Given the description of an element on the screen output the (x, y) to click on. 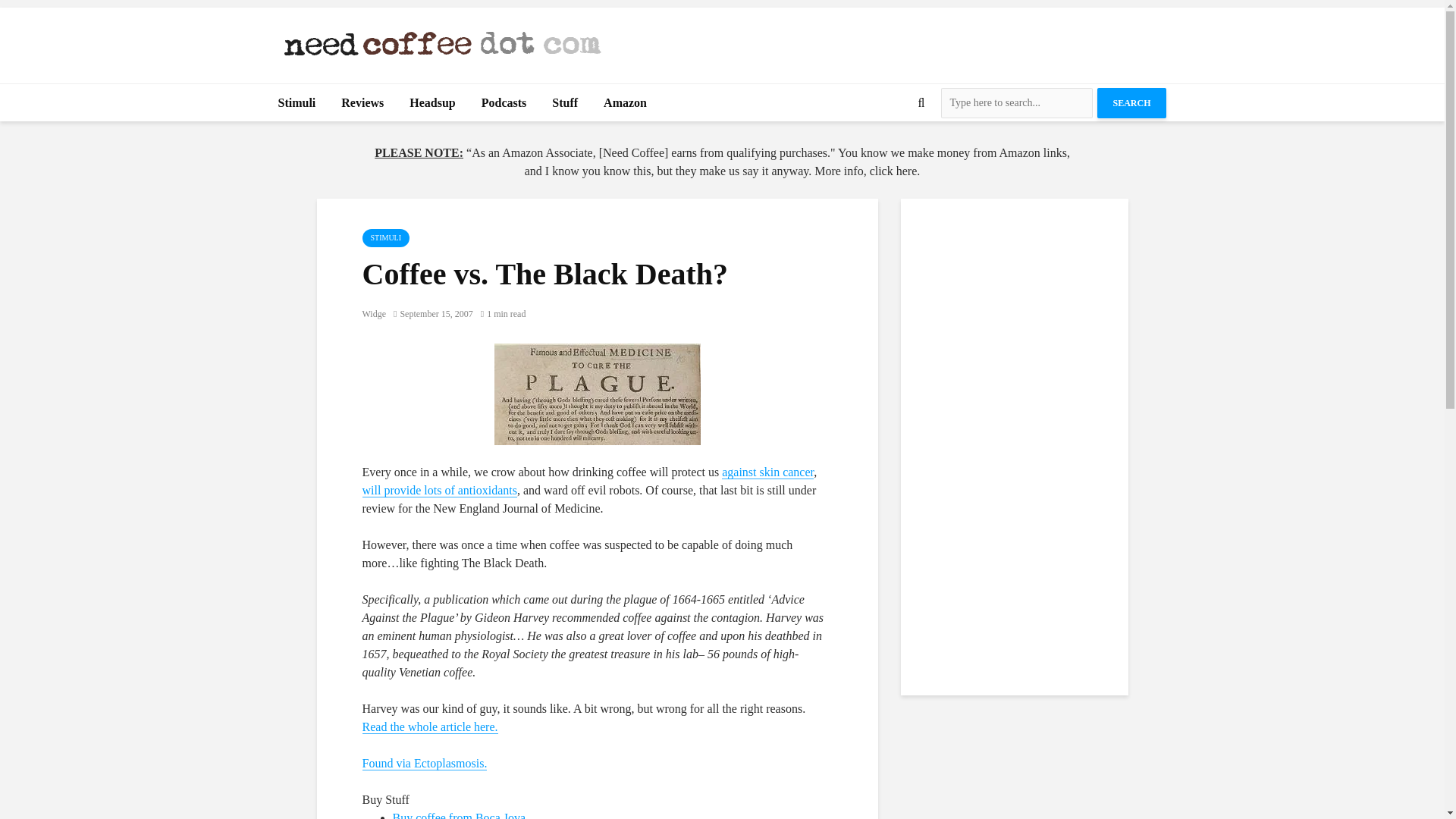
SEARCH (1131, 102)
click here. (894, 170)
STIMULI (386, 238)
Amazon (625, 103)
Headsup (431, 103)
Reviews (362, 103)
Coffee to cure the Black Death (597, 394)
will provide lots of antioxidants (439, 490)
Podcasts (504, 103)
Stuff (564, 103)
